Given the description of an element on the screen output the (x, y) to click on. 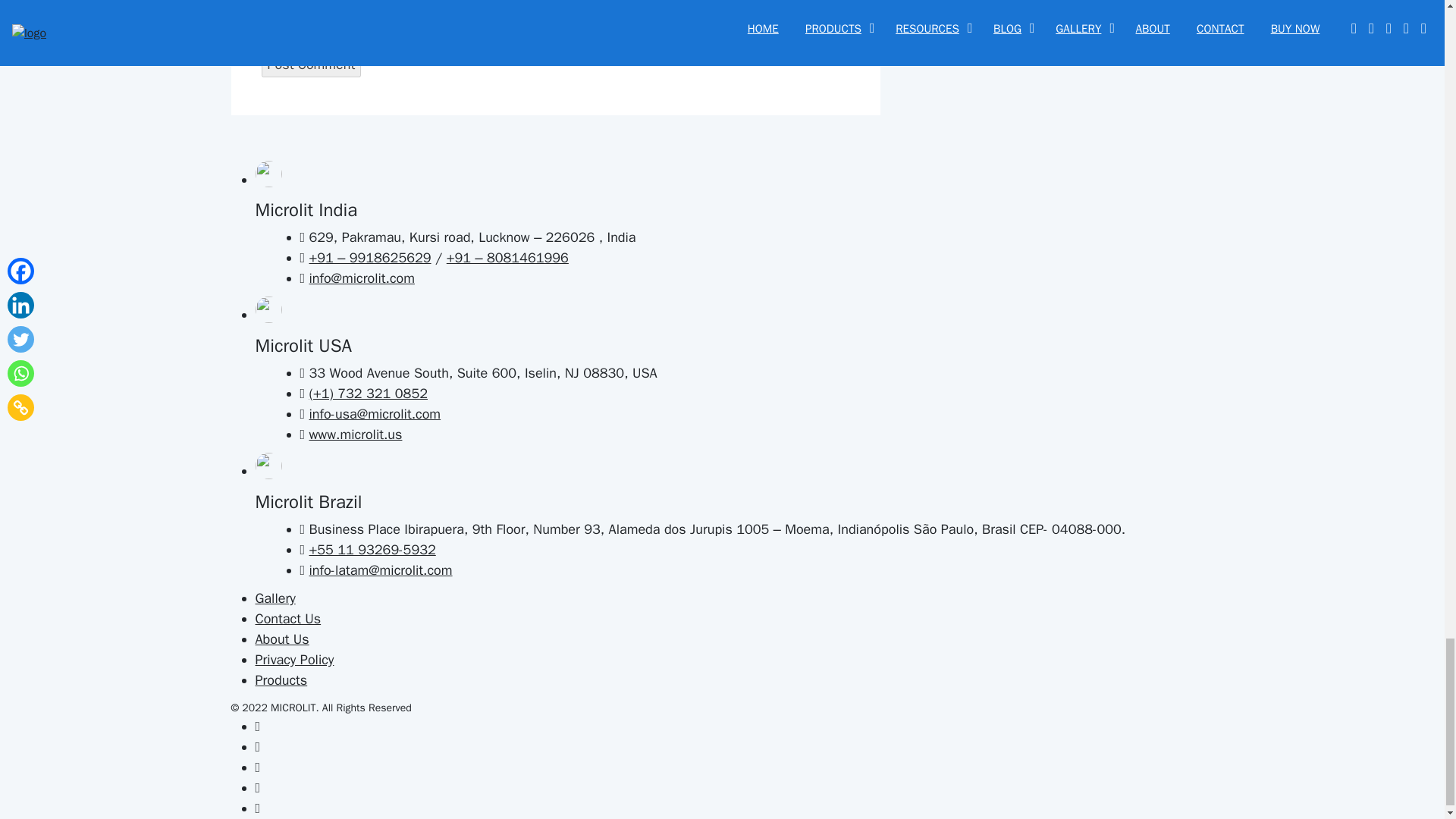
Post Comment (310, 64)
yes (265, 33)
